Given the description of an element on the screen output the (x, y) to click on. 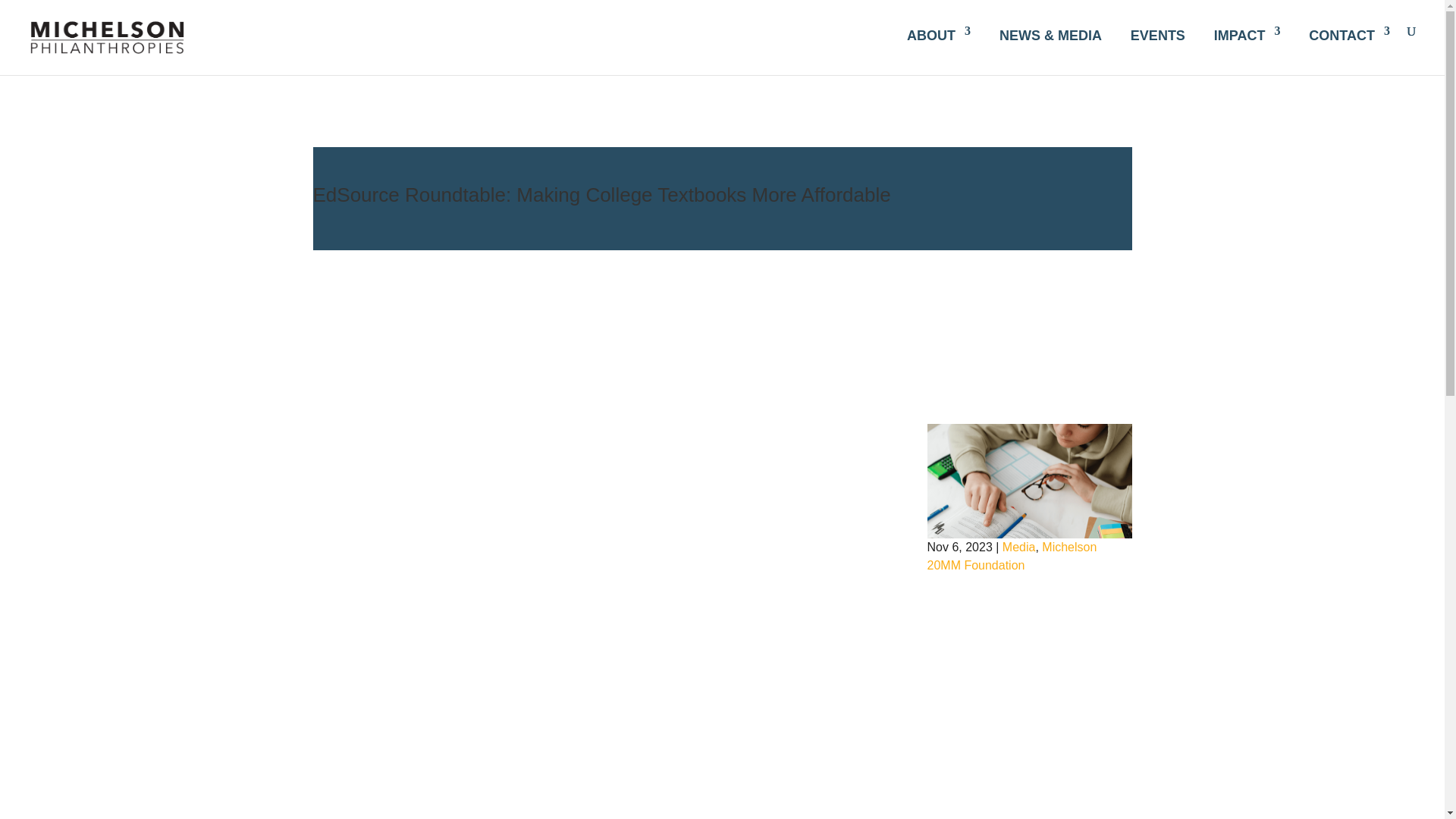
ABOUT (939, 32)
CONTACT (1349, 32)
student-reading-a-book-karolina-grabowska (1028, 481)
Michelson 20MM Foundation (1011, 555)
EVENTS (1158, 32)
Media (1019, 546)
IMPACT (1247, 32)
